Given the description of an element on the screen output the (x, y) to click on. 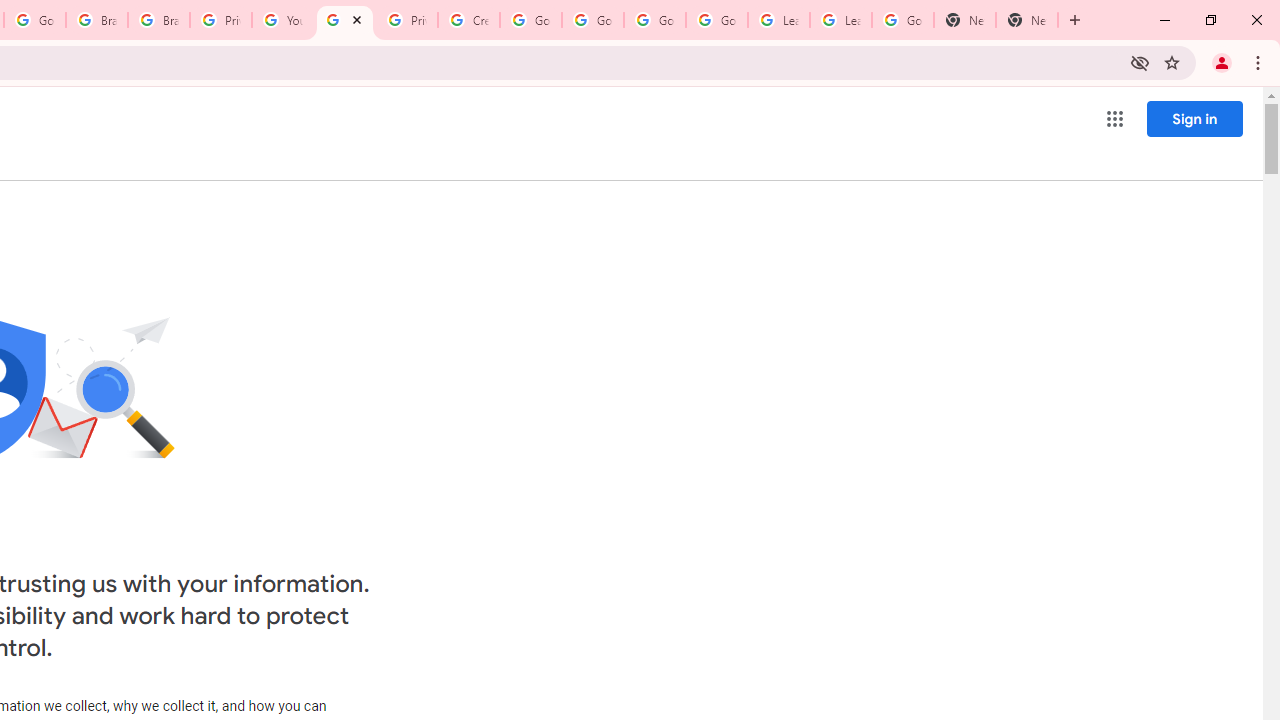
Create your Google Account (468, 20)
Google Account Help (592, 20)
Google Account (902, 20)
Google Account Help (654, 20)
Brand Resource Center (158, 20)
